Given the description of an element on the screen output the (x, y) to click on. 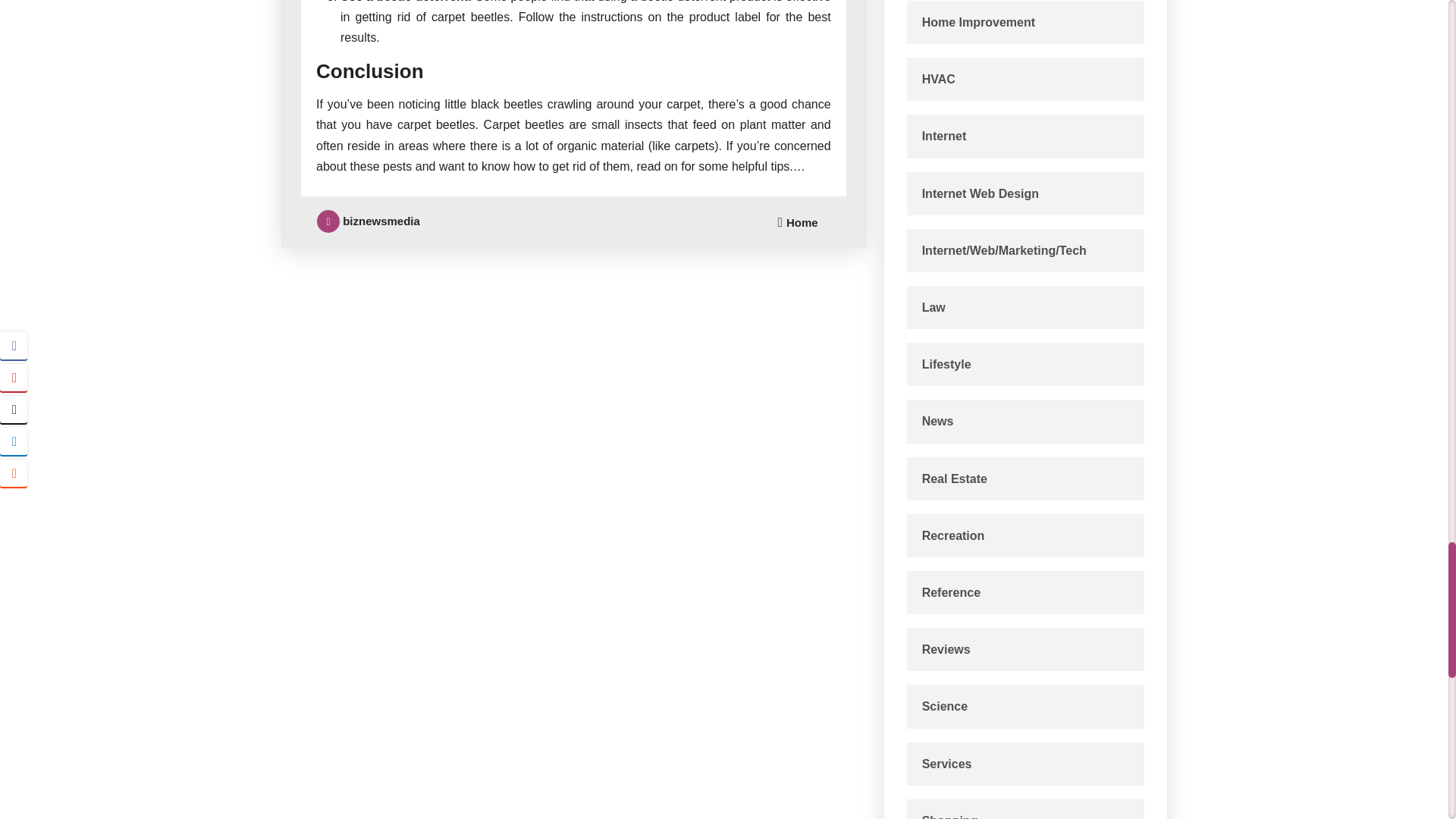
Home (802, 222)
biznewsmedia (367, 221)
